Given the description of an element on the screen output the (x, y) to click on. 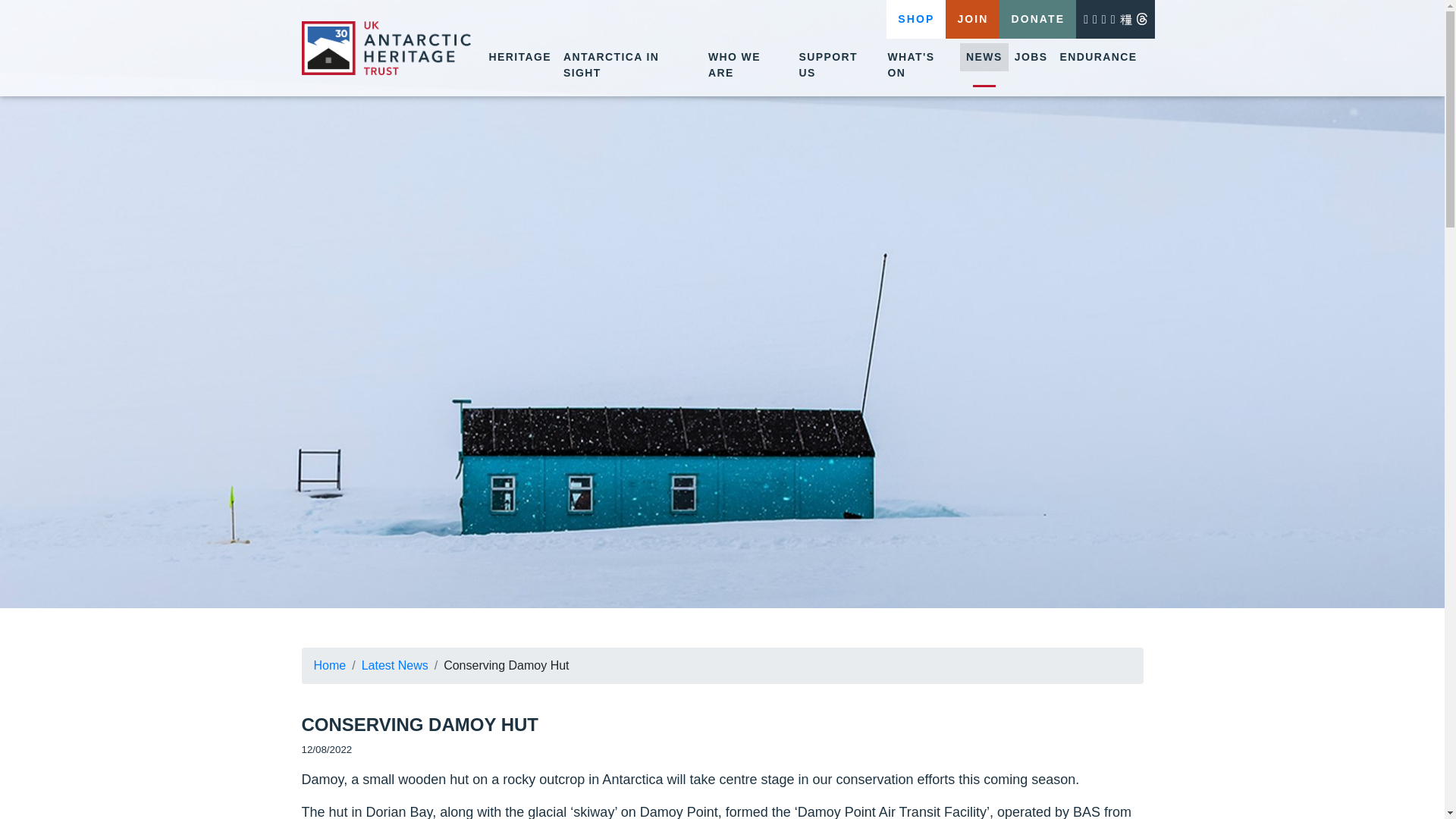
ANTARCTICA IN SIGHT (629, 64)
NEWS (984, 57)
SUPPORT US (836, 64)
Latest News (394, 665)
HERITAGE (519, 57)
DONATE (1036, 19)
WHAT'S ON (919, 64)
SHOP (915, 19)
ENDURANCE (1097, 57)
WHO WE ARE (747, 64)
Home (330, 665)
JOBS (1031, 57)
JOIN (971, 19)
